Given the description of an element on the screen output the (x, y) to click on. 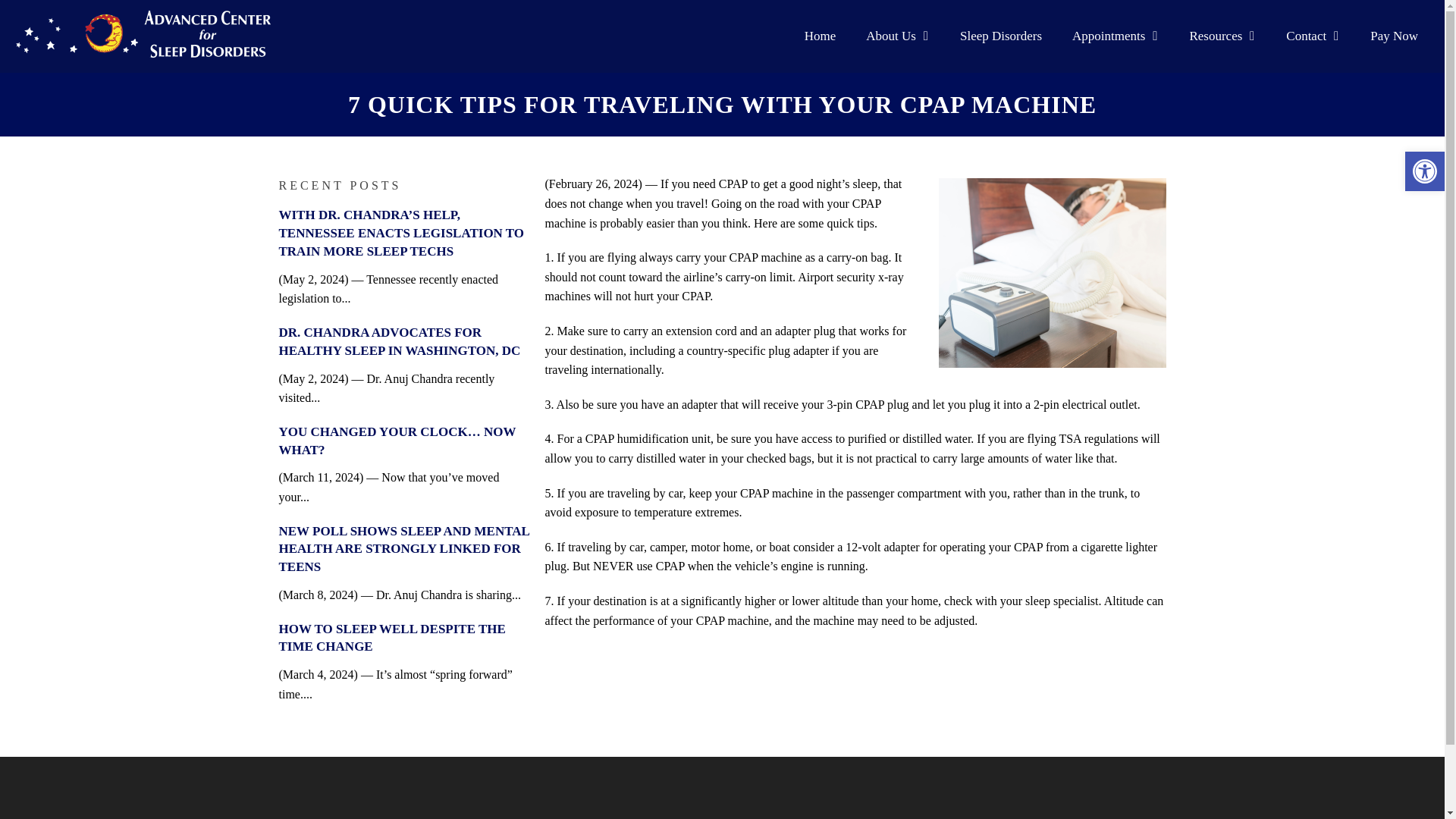
Accessibility Tools (1424, 170)
About Us (897, 36)
DR. CHANDRA ADVOCATES FOR HEALTHY SLEEP IN WASHINGTON, DC (400, 341)
Pay Now (1393, 36)
Appointments (1115, 36)
Resources (1222, 36)
Sleep Disorders (1000, 36)
Contact (1313, 36)
HOW TO SLEEP WELL DESPITE THE TIME CHANGE (392, 637)
View Our Four Locations (727, 12)
Home (820, 36)
